Given the description of an element on the screen output the (x, y) to click on. 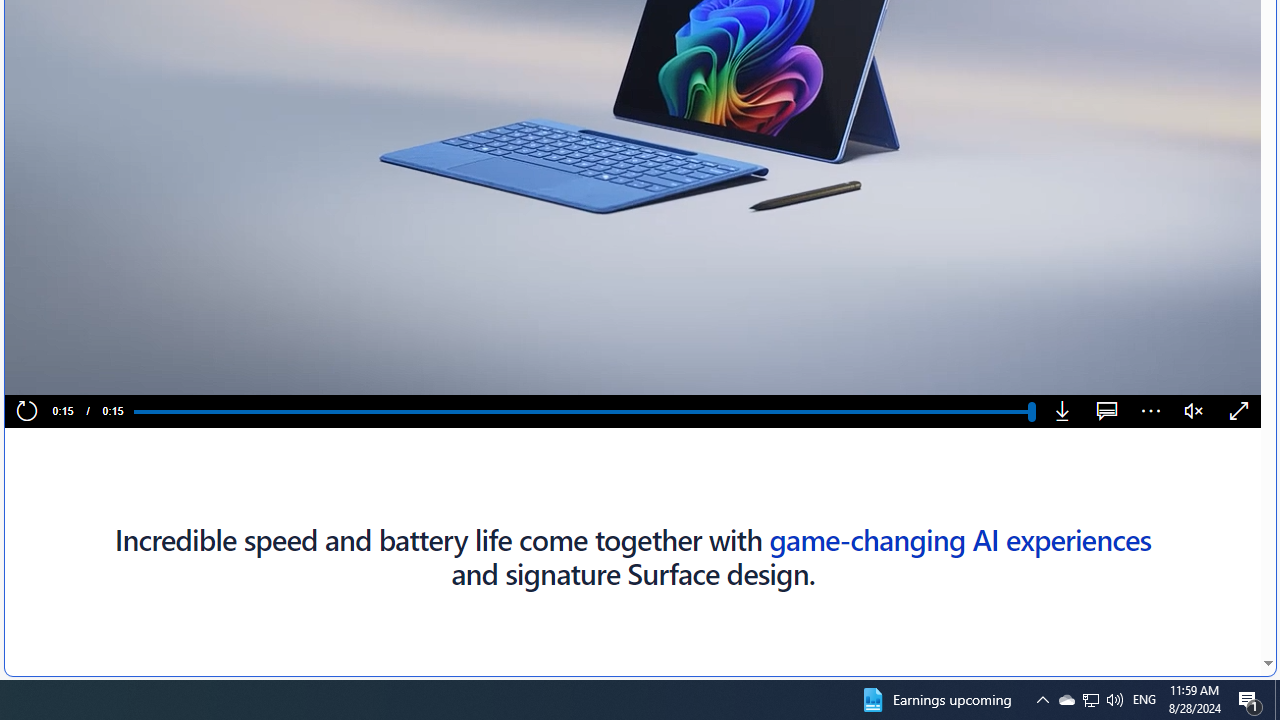
Unmute (1194, 412)
Captions (1106, 412)
AutomationID: pause-svg (61, 372)
Fullscreen (1238, 412)
Pause (60, 372)
Progress Bar (582, 411)
Download (1062, 412)
Replay (26, 412)
